Given the description of an element on the screen output the (x, y) to click on. 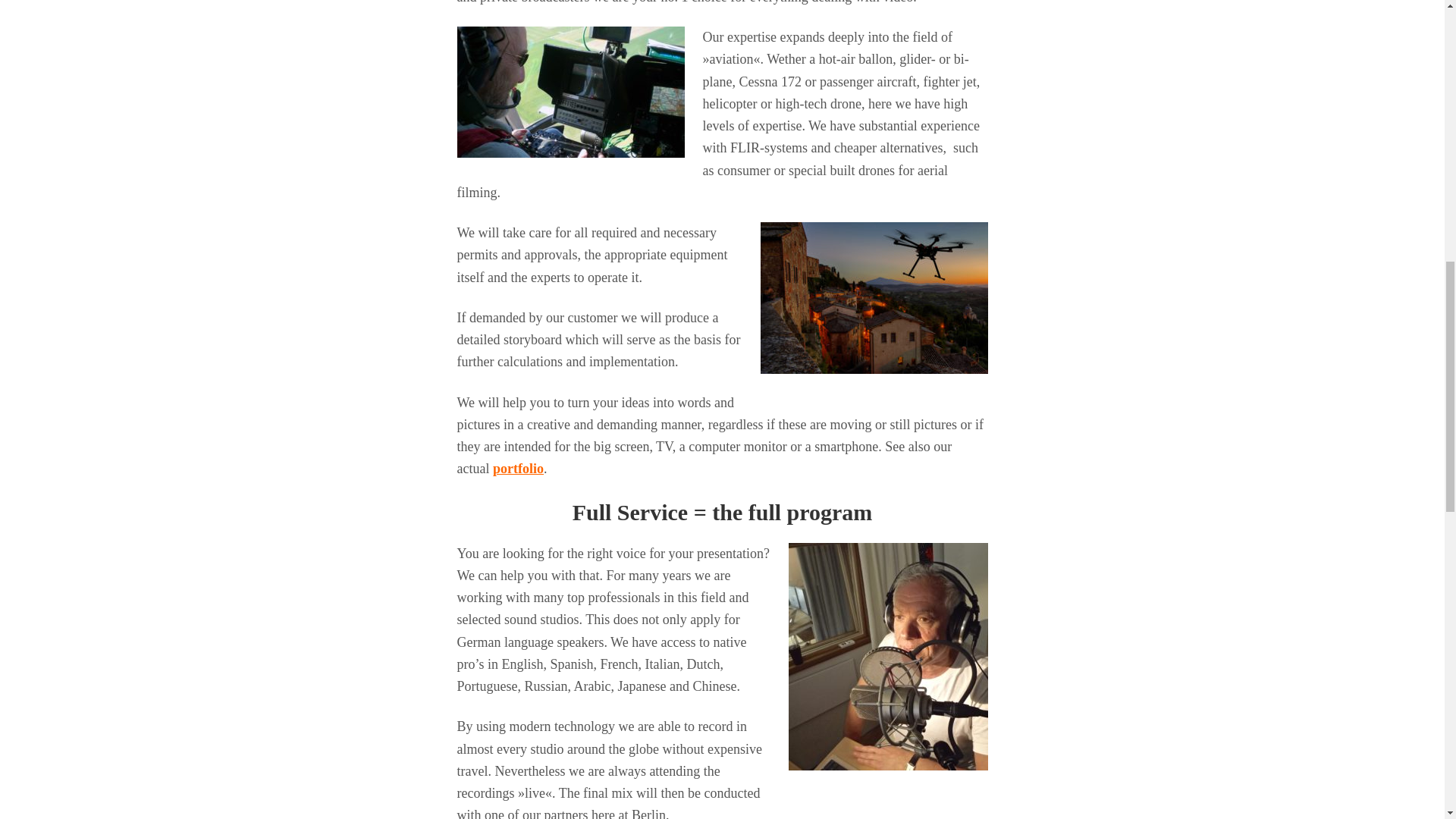
portfolio (518, 468)
